Given the description of an element on the screen output the (x, y) to click on. 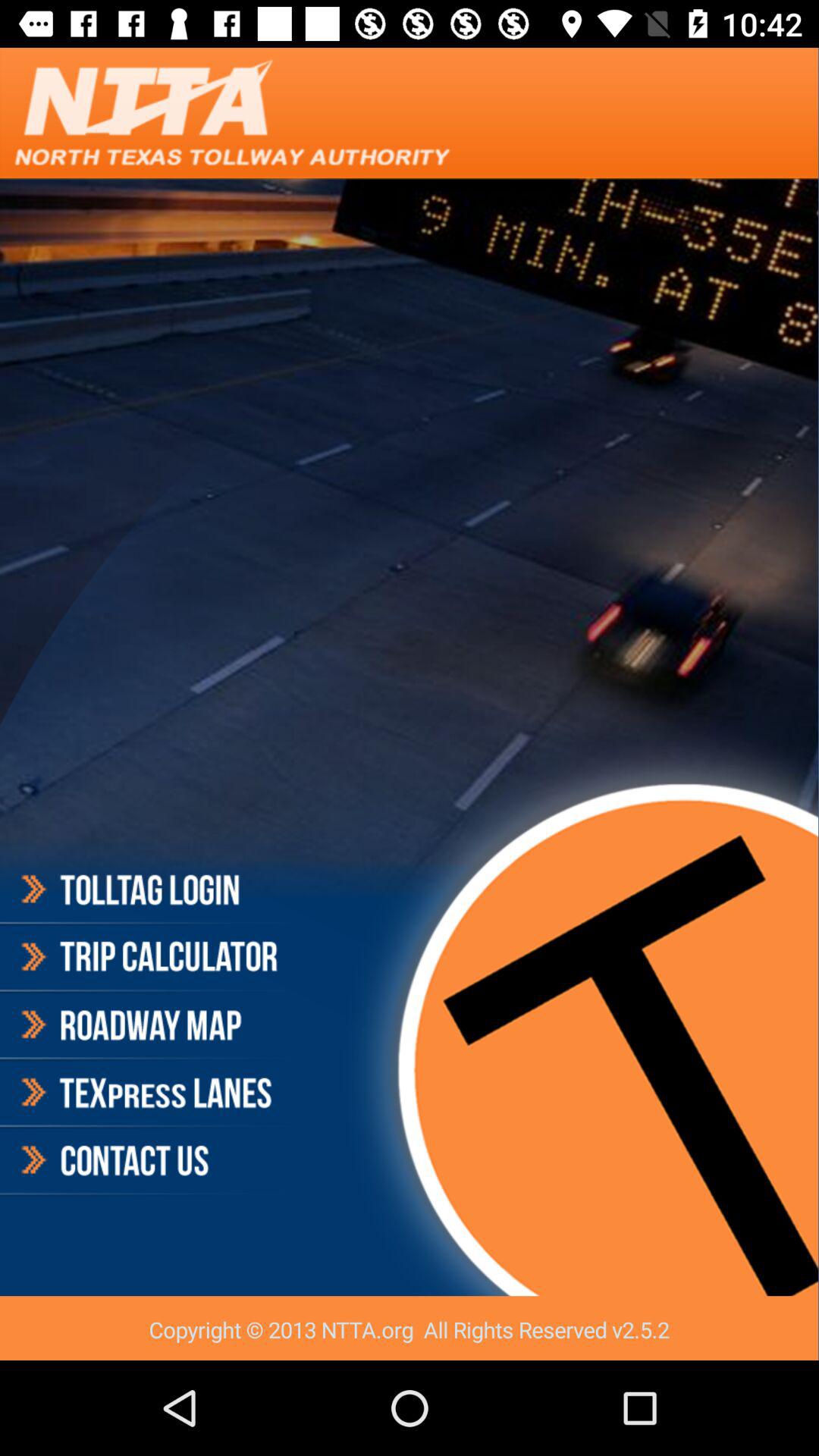
login to tolltag (147, 891)
